Given the description of an element on the screen output the (x, y) to click on. 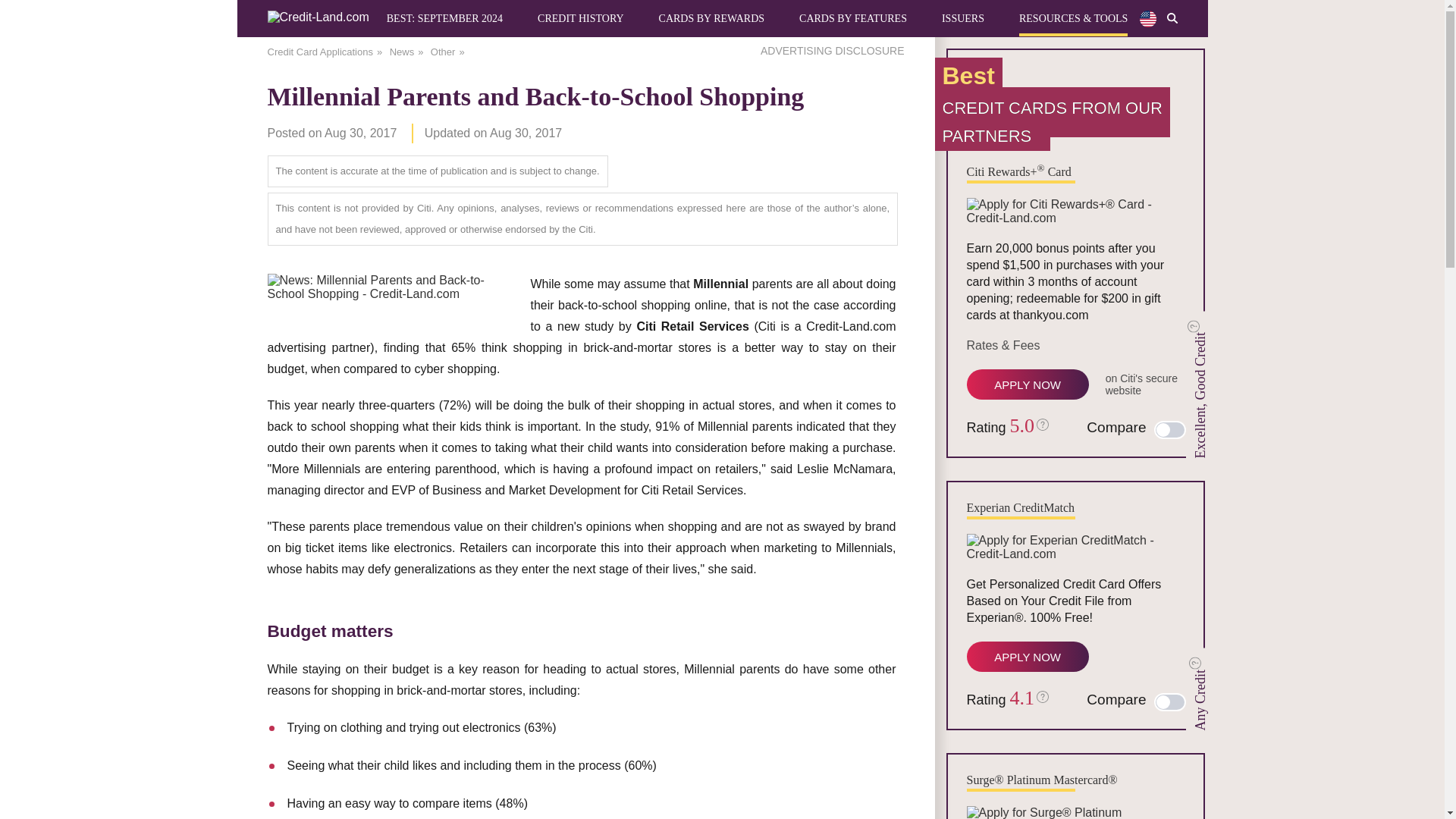
CARDS BY FEATURES (853, 18)
BEST: SEPTEMBER 2024 (444, 18)
CARDS BY REWARDS (712, 18)
CREDIT HISTORY (580, 18)
